Given the description of an element on the screen output the (x, y) to click on. 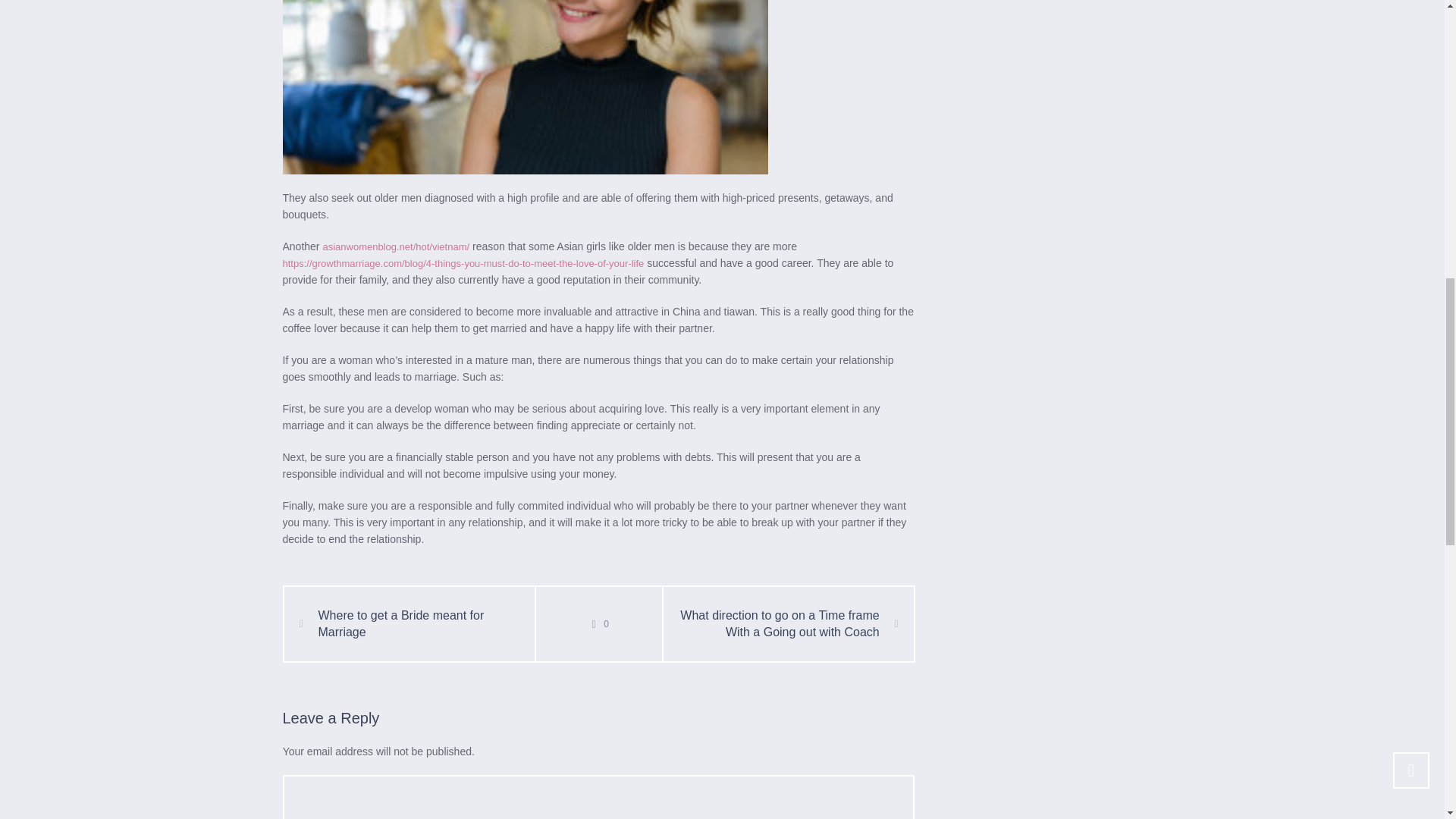
0 (598, 623)
Comment on Elderly Man Younger Asian Girl Marriage in China (598, 623)
Where to get a Bride meant for Marriage (410, 623)
